Given the description of an element on the screen output the (x, y) to click on. 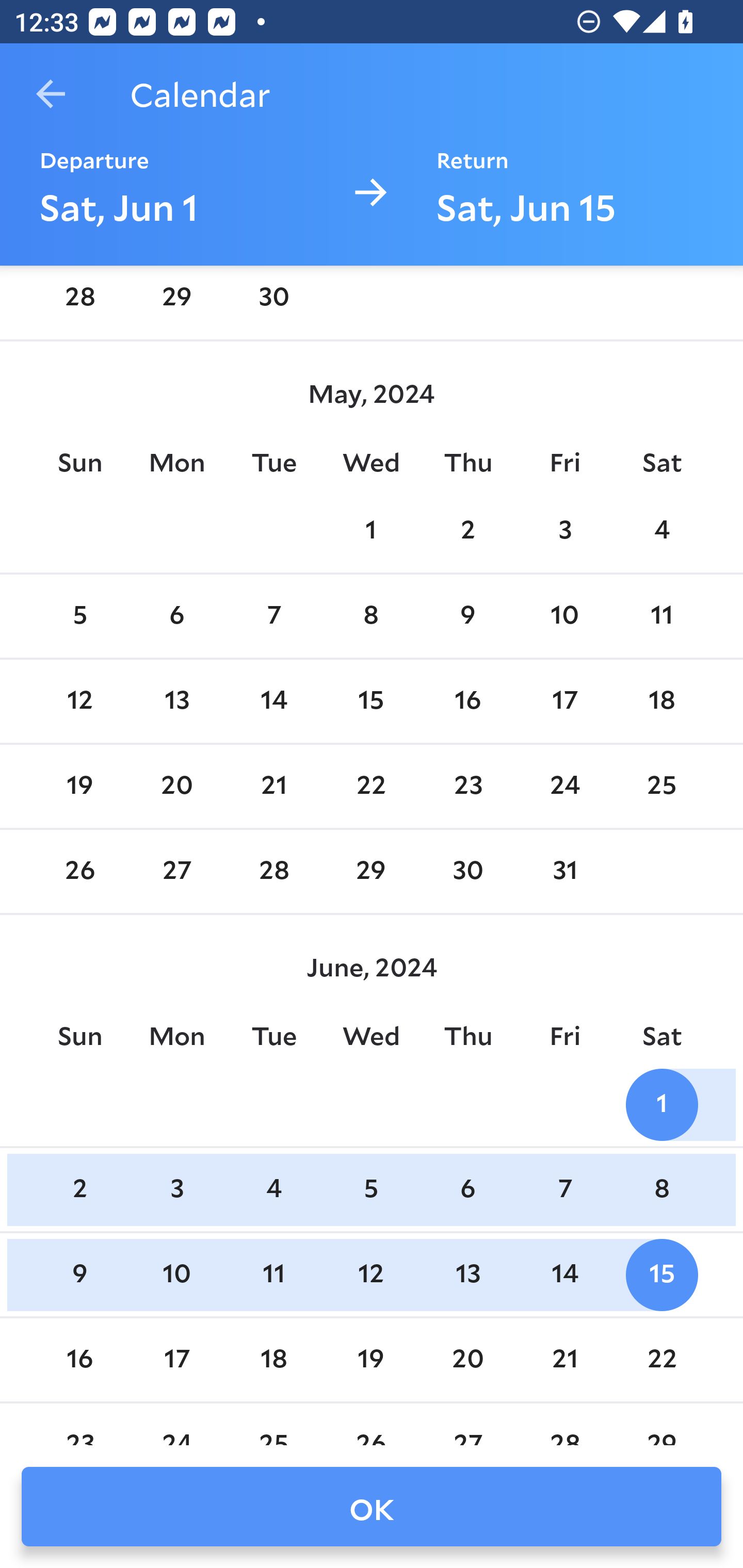
Navigate up (50, 93)
28 (79, 298)
29 (177, 298)
30 (273, 298)
1 (371, 531)
2 (467, 531)
3 (565, 531)
4 (661, 531)
5 (79, 616)
6 (177, 616)
7 (273, 616)
8 (371, 616)
9 (467, 616)
10 (565, 616)
11 (661, 616)
12 (79, 700)
13 (177, 700)
14 (273, 700)
15 (371, 700)
16 (467, 700)
17 (565, 700)
18 (661, 700)
19 (79, 787)
20 (177, 787)
21 (273, 787)
22 (371, 787)
23 (467, 787)
24 (565, 787)
25 (661, 787)
26 (79, 871)
27 (177, 871)
28 (273, 871)
29 (371, 871)
30 (467, 871)
31 (565, 871)
1 (661, 1105)
2 (79, 1190)
3 (177, 1190)
4 (273, 1190)
5 (371, 1190)
6 (467, 1190)
7 (565, 1190)
8 (661, 1190)
9 (79, 1274)
10 (177, 1274)
11 (273, 1274)
12 (371, 1274)
13 (467, 1274)
14 (565, 1274)
15 (661, 1274)
16 (79, 1359)
17 (177, 1359)
18 (273, 1359)
19 (371, 1359)
20 (467, 1359)
21 (565, 1359)
22 (661, 1359)
OK (371, 1506)
